Given the description of an element on the screen output the (x, y) to click on. 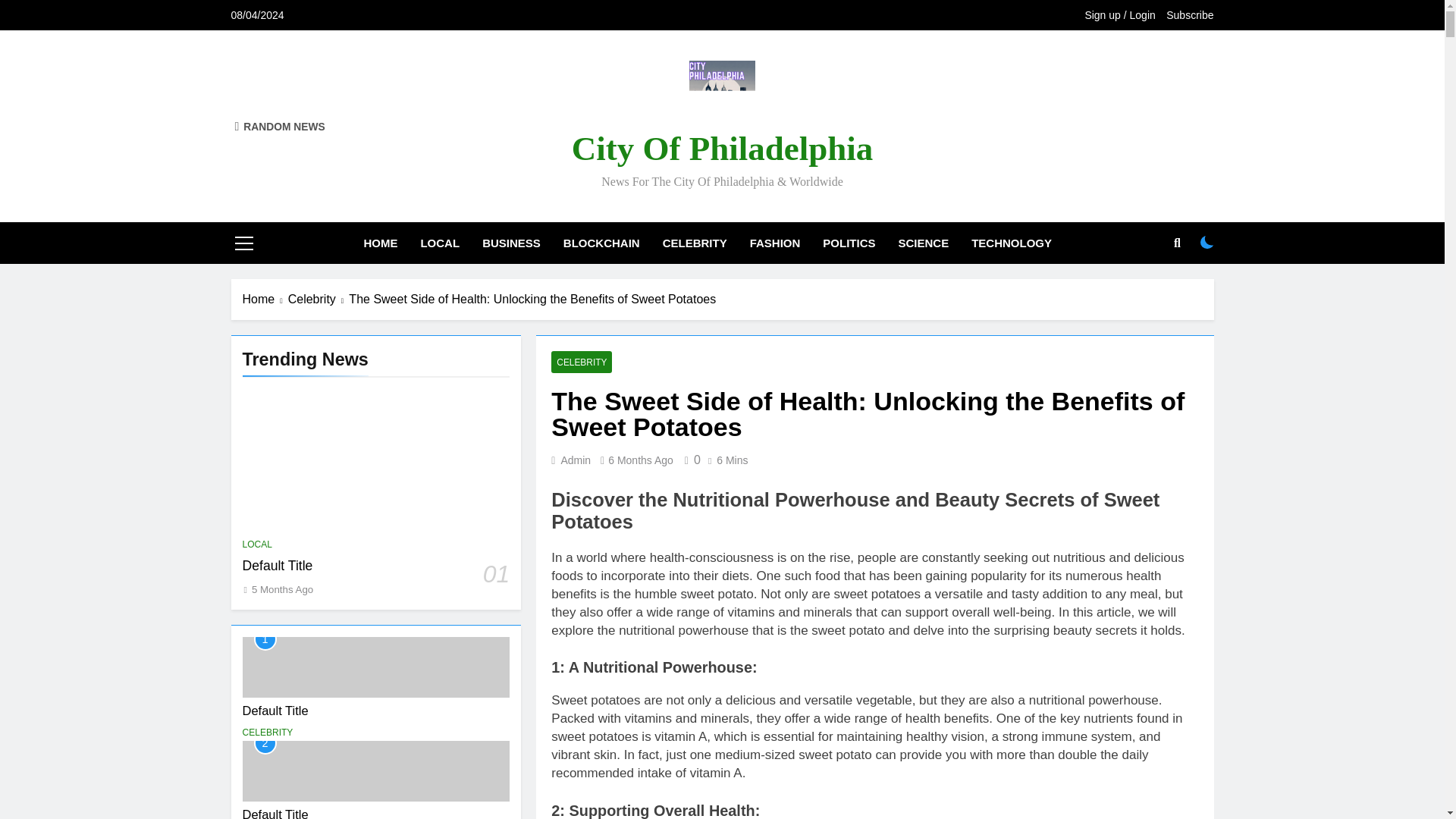
HOME (380, 242)
City Of Philadelphia (722, 148)
POLITICS (848, 242)
CELEBRITY (268, 732)
CELEBRITY (694, 242)
FASHION (775, 242)
Default Title (275, 710)
BLOCKCHAIN (600, 242)
TECHNOLOGY (1010, 242)
on (1206, 242)
SCIENCE (923, 242)
5 Months Ago (282, 589)
LOCAL (257, 544)
BUSINESS (510, 242)
LOCAL (439, 242)
